Given the description of an element on the screen output the (x, y) to click on. 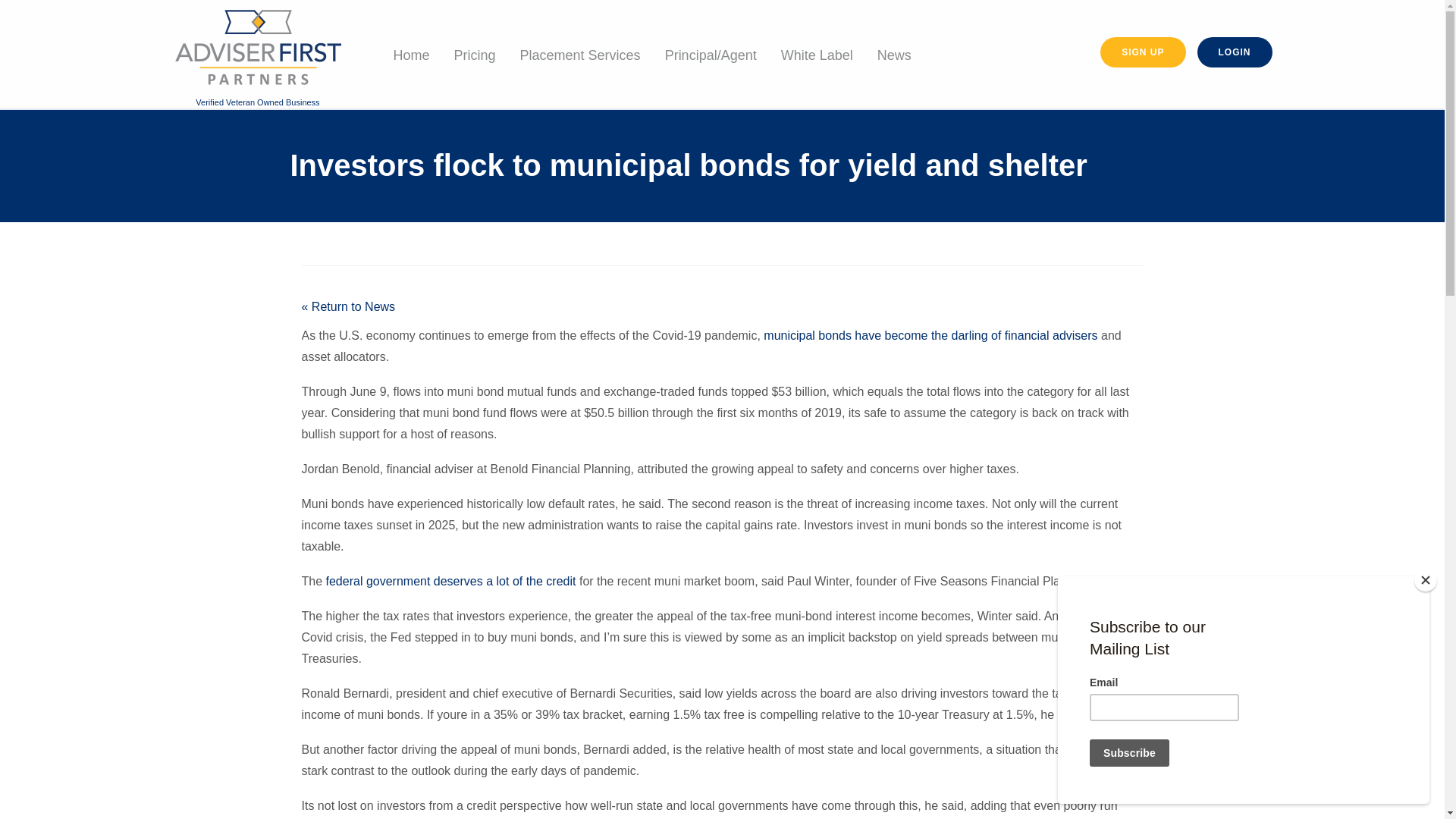
federal government deserves a lot of the credit (451, 581)
LOGIN (1234, 51)
Placement Services (580, 54)
SIGN UP (1142, 51)
Pricing (475, 54)
News (893, 54)
White Label (816, 54)
Home (410, 54)
Verified Veteran Owned Business (258, 54)
